Given the description of an element on the screen output the (x, y) to click on. 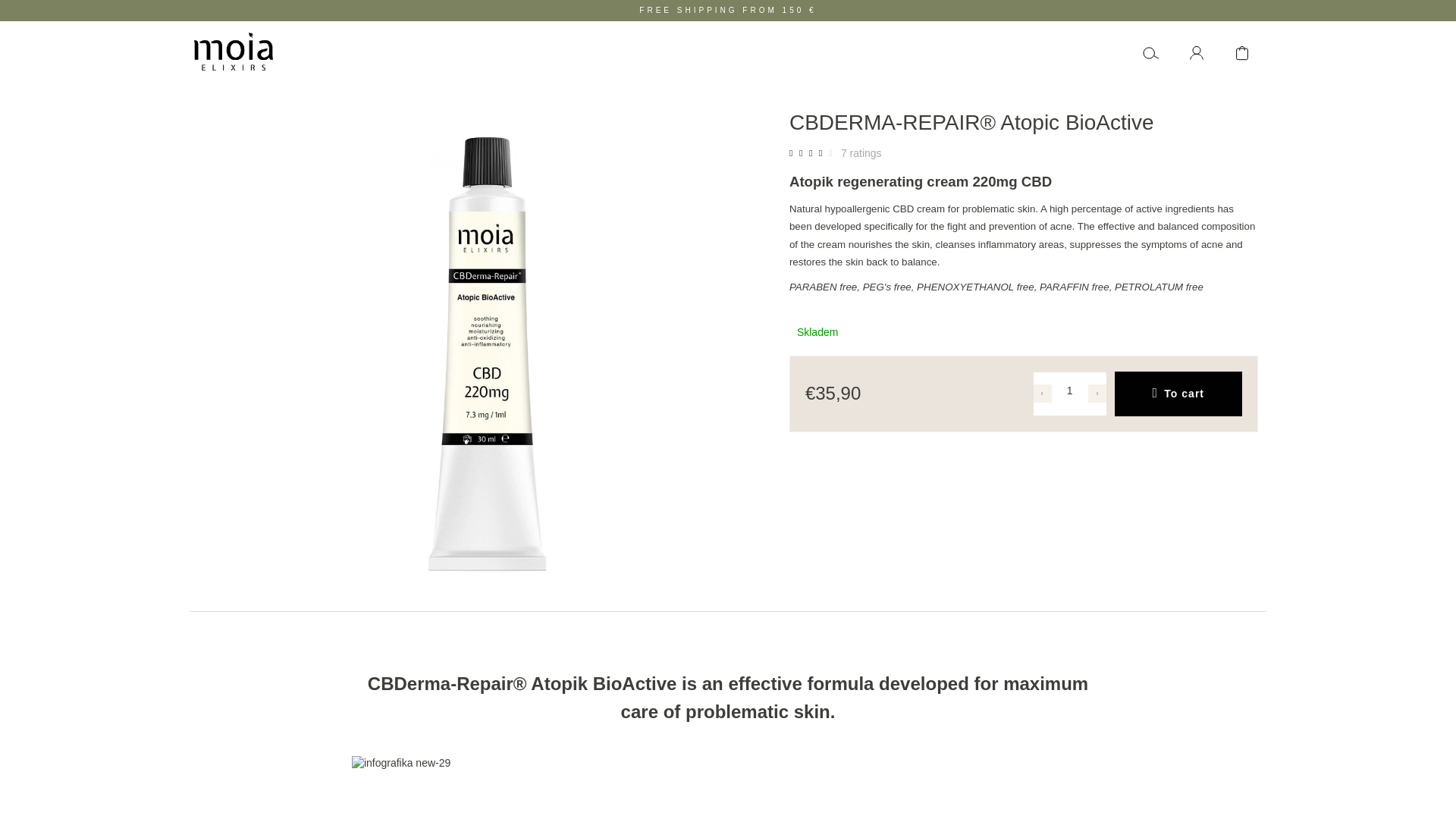
1 (1069, 390)
To cart (1178, 393)
Shopping cart (1242, 51)
Login (1196, 51)
Search (1150, 51)
